Given the description of an element on the screen output the (x, y) to click on. 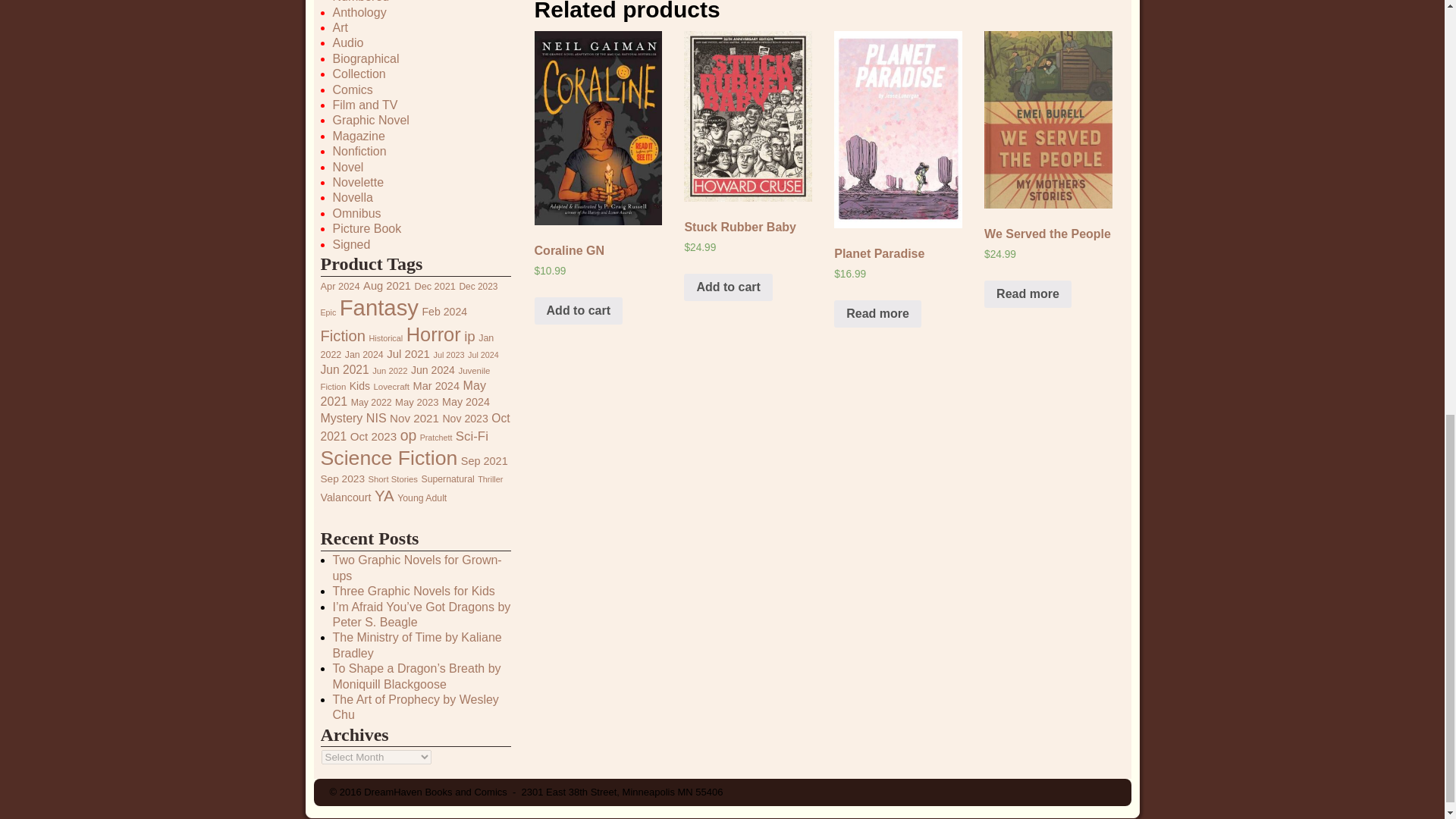
Read more (877, 313)
Add to cart (578, 310)
Read more (1027, 293)
Add to cart (727, 287)
